Given the description of an element on the screen output the (x, y) to click on. 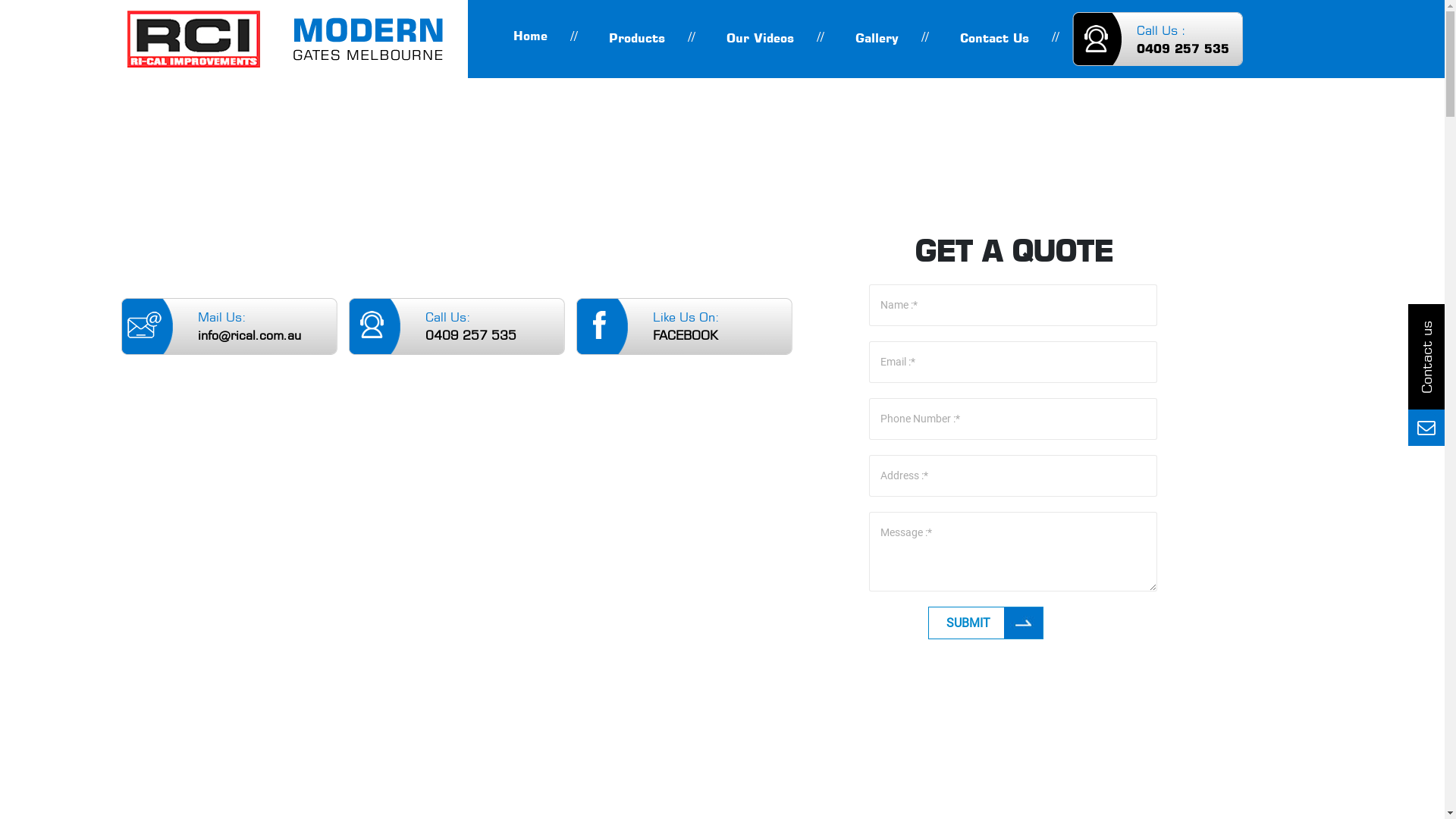
info@rical.com.au Element type: text (249, 334)
0409 257 535 Element type: text (470, 334)
SUBMIT Element type: text (985, 622)
FACEBOOK Element type: text (685, 334)
